Given the description of an element on the screen output the (x, y) to click on. 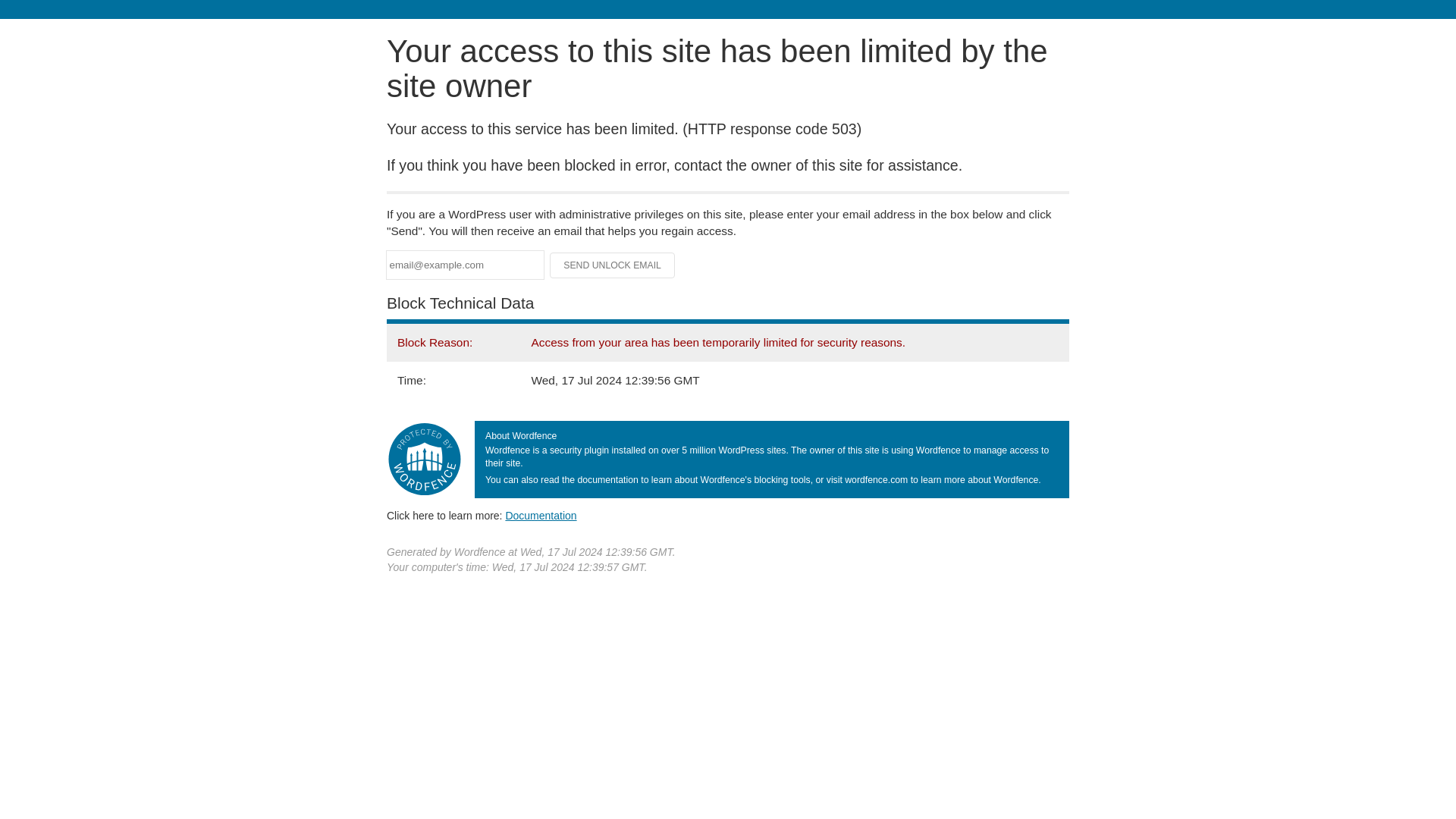
Send Unlock Email (612, 265)
Send Unlock Email (612, 265)
Documentation (540, 515)
